Given the description of an element on the screen output the (x, y) to click on. 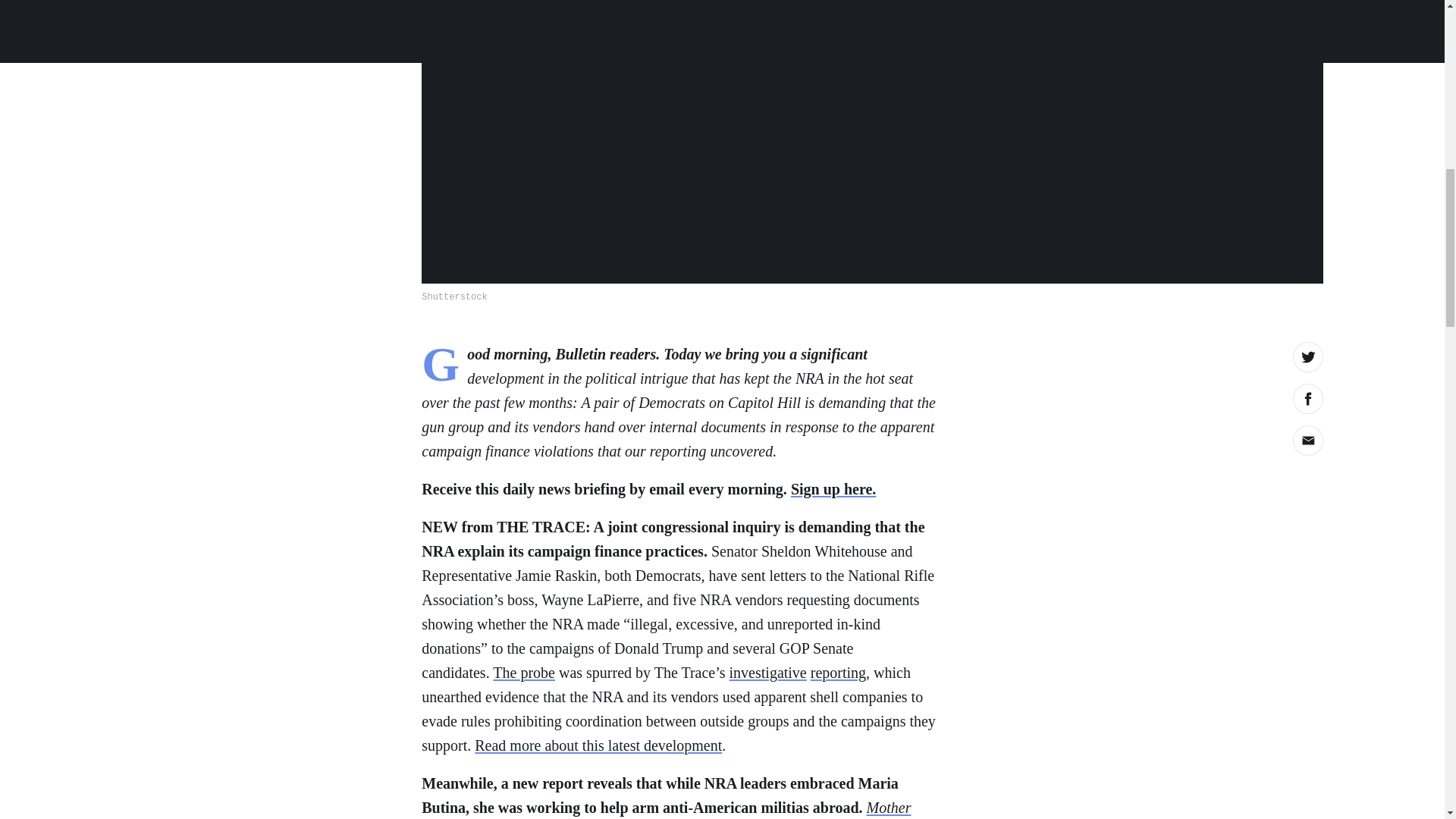
Share on Twitter (1307, 357)
The probe (523, 672)
Share on Facebook (1307, 399)
Email a link to this page (1307, 440)
investigative (767, 672)
Sign up here. (833, 488)
